Given the description of an element on the screen output the (x, y) to click on. 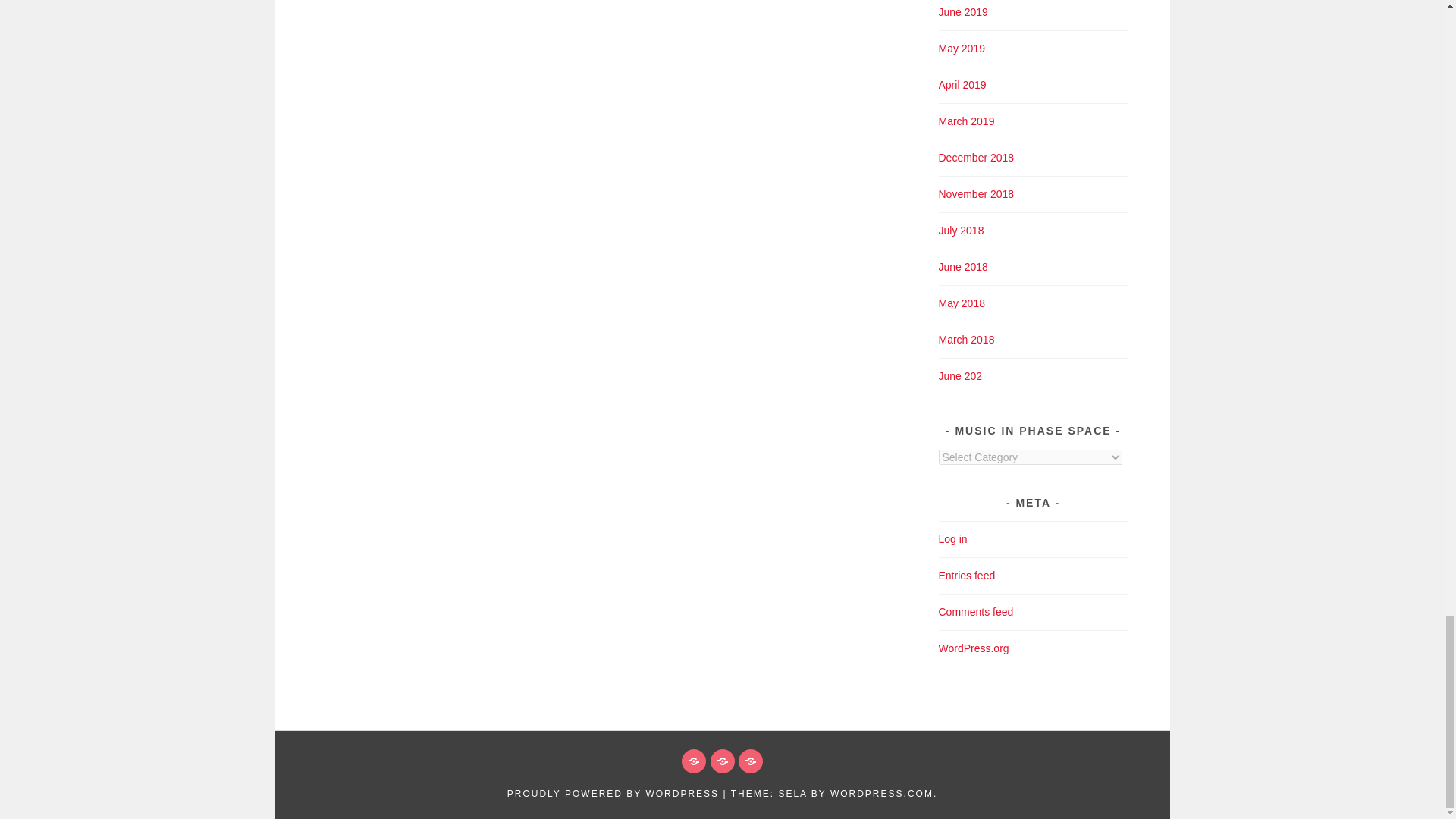
A Semantic Personal Publishing Platform (612, 793)
